Given the description of an element on the screen output the (x, y) to click on. 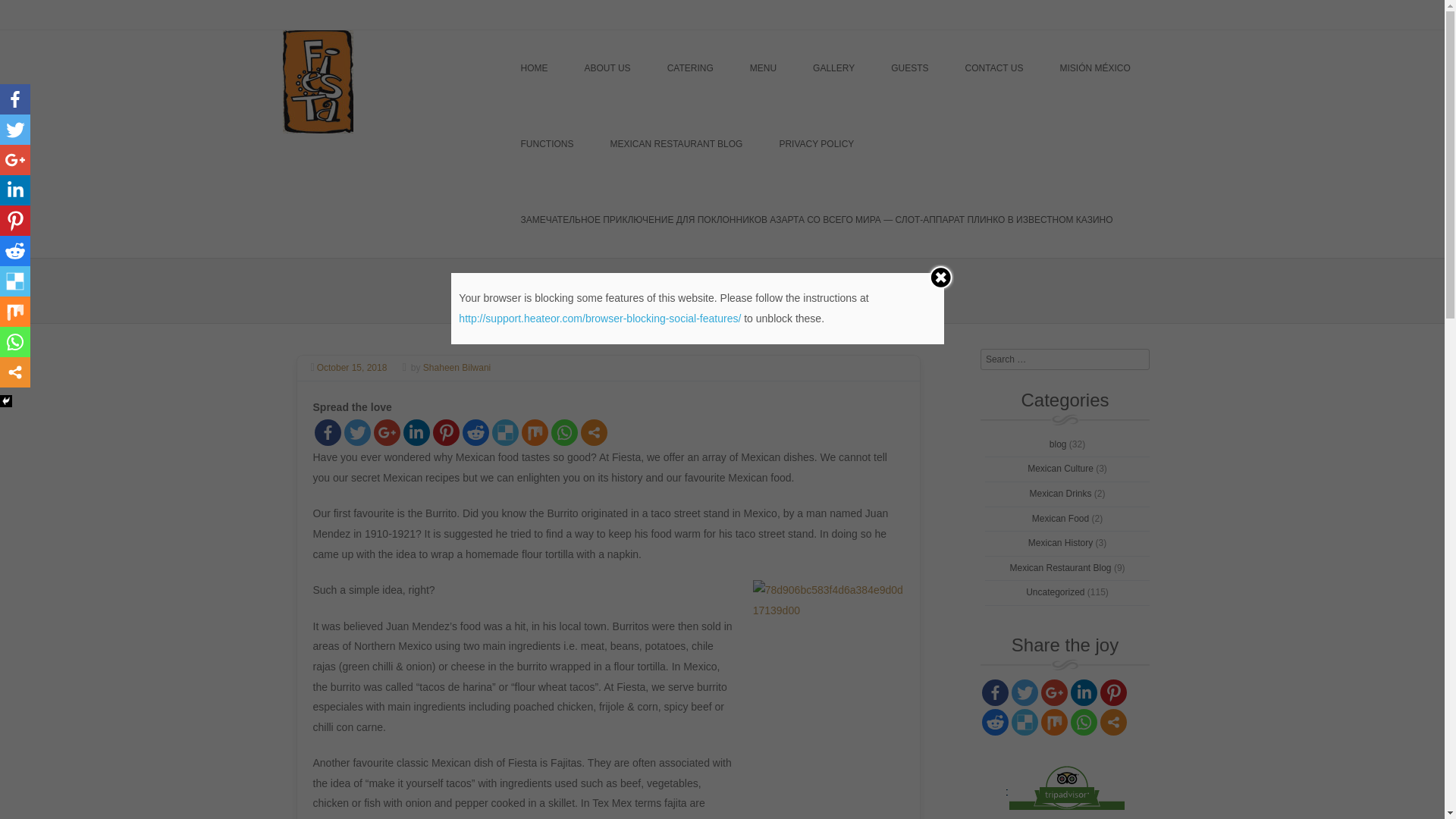
ABOUT US Element type: text (606, 68)
Whatsapp Element type: hover (563, 432)
Twitter Element type: hover (357, 432)
Whatsapp Element type: hover (15, 341)
FUNCTIONS Element type: text (546, 144)
Mix Element type: hover (15, 311)
http://support.heateor.com/browser-blocking-social-features/ Element type: text (599, 318)
Reddit Element type: hover (995, 722)
Search Element type: text (86, 14)
Mexican Culture Element type: text (1060, 468)
Delicious Element type: hover (15, 281)
Linkedin Element type: hover (1083, 692)
Mix Element type: hover (1054, 722)
SKIP TO CONTENT Element type: text (561, 68)
Mexican History Element type: text (1060, 542)
CONTACT US Element type: text (994, 68)
More Element type: hover (15, 372)
More Element type: hover (593, 432)
Linkedin Element type: hover (15, 190)
Twitter Element type: hover (15, 129)
More Element type: hover (1113, 722)
Facebook Element type: hover (15, 99)
Facebook Element type: hover (995, 692)
Whatsapp Element type: hover (1083, 722)
Pinterest Element type: hover (1113, 692)
HOME Element type: text (533, 68)
October 15, 2018 Element type: text (354, 367)
GUESTS Element type: text (909, 68)
Google plus Element type: hover (1054, 692)
Google plus Element type: hover (15, 159)
blog Element type: text (1057, 444)
Mexican Drinks Element type: text (1060, 493)
Linkedin Element type: hover (416, 432)
Shaheen Bilwani Element type: text (456, 367)
Delicious Element type: hover (1024, 722)
PRIVACY POLICY Element type: text (816, 144)
Google plus Element type: hover (386, 432)
Mexican Restaurant Blog Element type: text (1059, 567)
Pinterest Element type: hover (445, 432)
Facebook Element type: hover (326, 432)
Mix Element type: hover (534, 432)
Pinterest Element type: hover (15, 220)
Twitter Element type: hover (1024, 692)
MEXICAN RESTAURANT BLOG Element type: text (675, 144)
Reddit Element type: hover (15, 250)
Mexican Food Element type: text (1060, 518)
Uncategorized Element type: text (1055, 591)
Hide Element type: hover (6, 401)
Delicious Element type: hover (504, 432)
CATERING Element type: text (690, 68)
GALLERY Element type: text (833, 68)
Reddit Element type: hover (475, 432)
MENU Element type: text (762, 68)
